Given the description of an element on the screen output the (x, y) to click on. 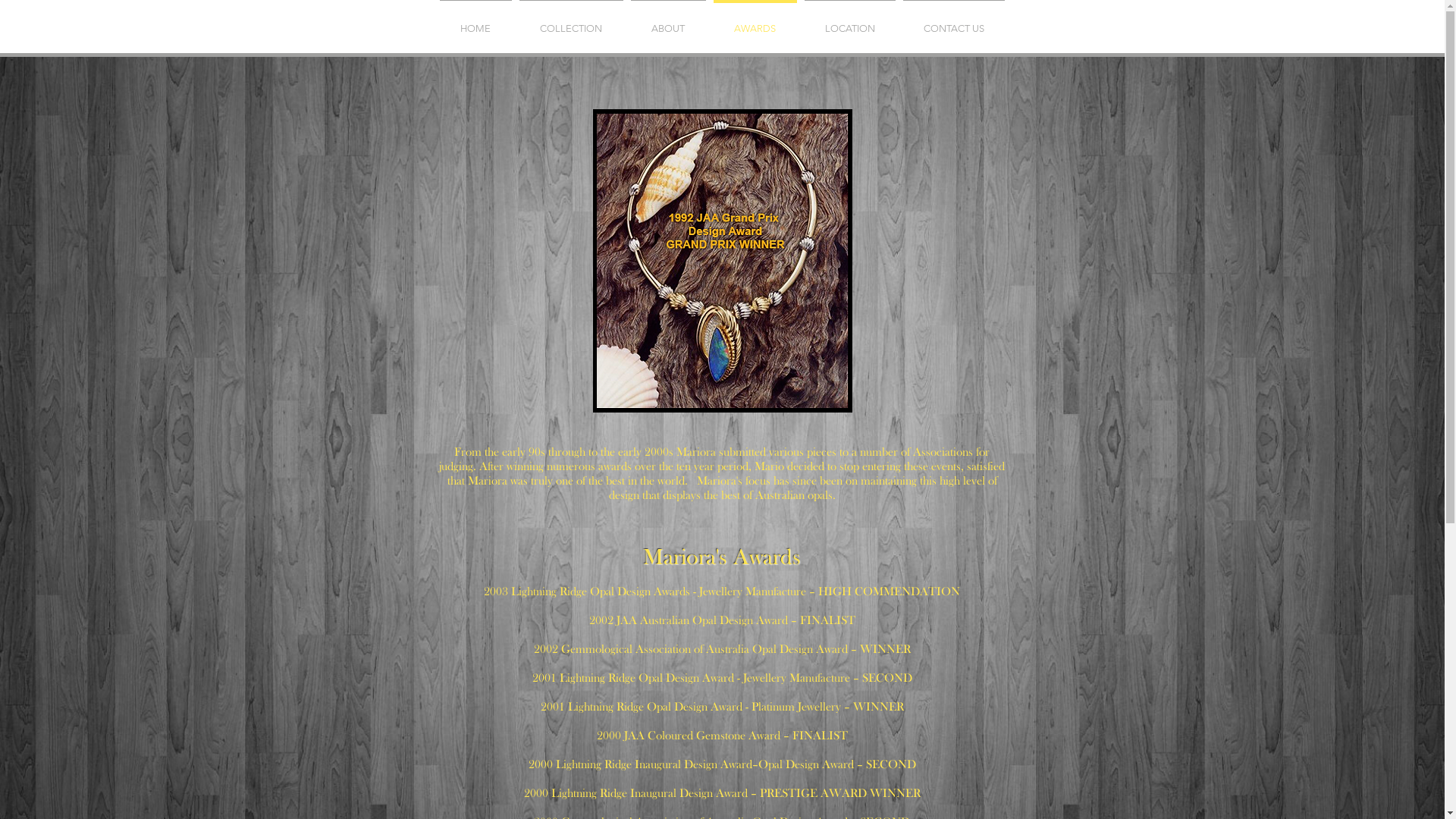
CONTACT US Element type: text (953, 21)
AWARDS Element type: text (754, 21)
LOCATION Element type: text (849, 21)
COLLECTION Element type: text (571, 21)
HOME Element type: text (474, 21)
ABOUT Element type: text (667, 21)
